Given the description of an element on the screen output the (x, y) to click on. 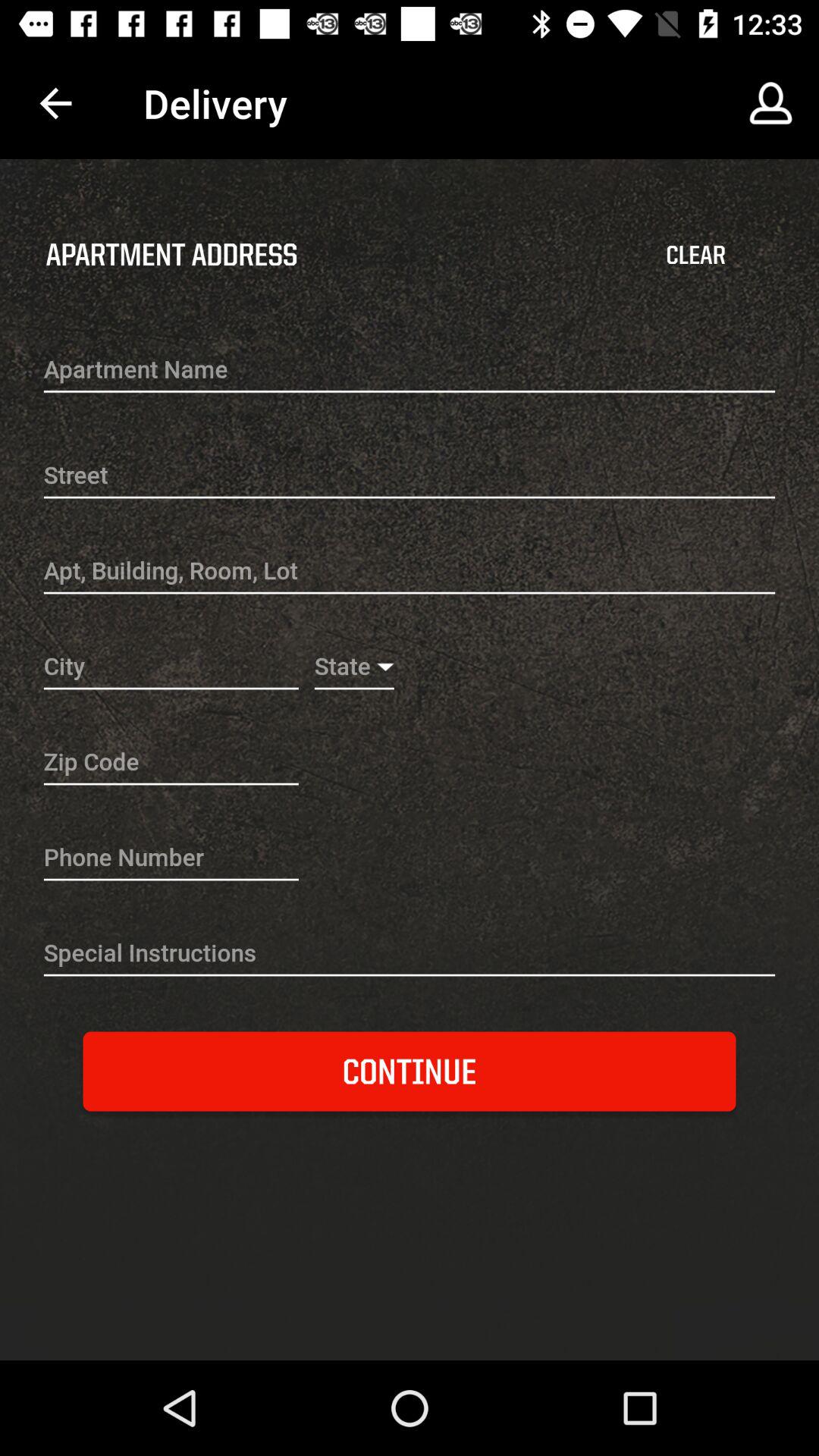
select the item next to delivery item (771, 103)
